Given the description of an element on the screen output the (x, y) to click on. 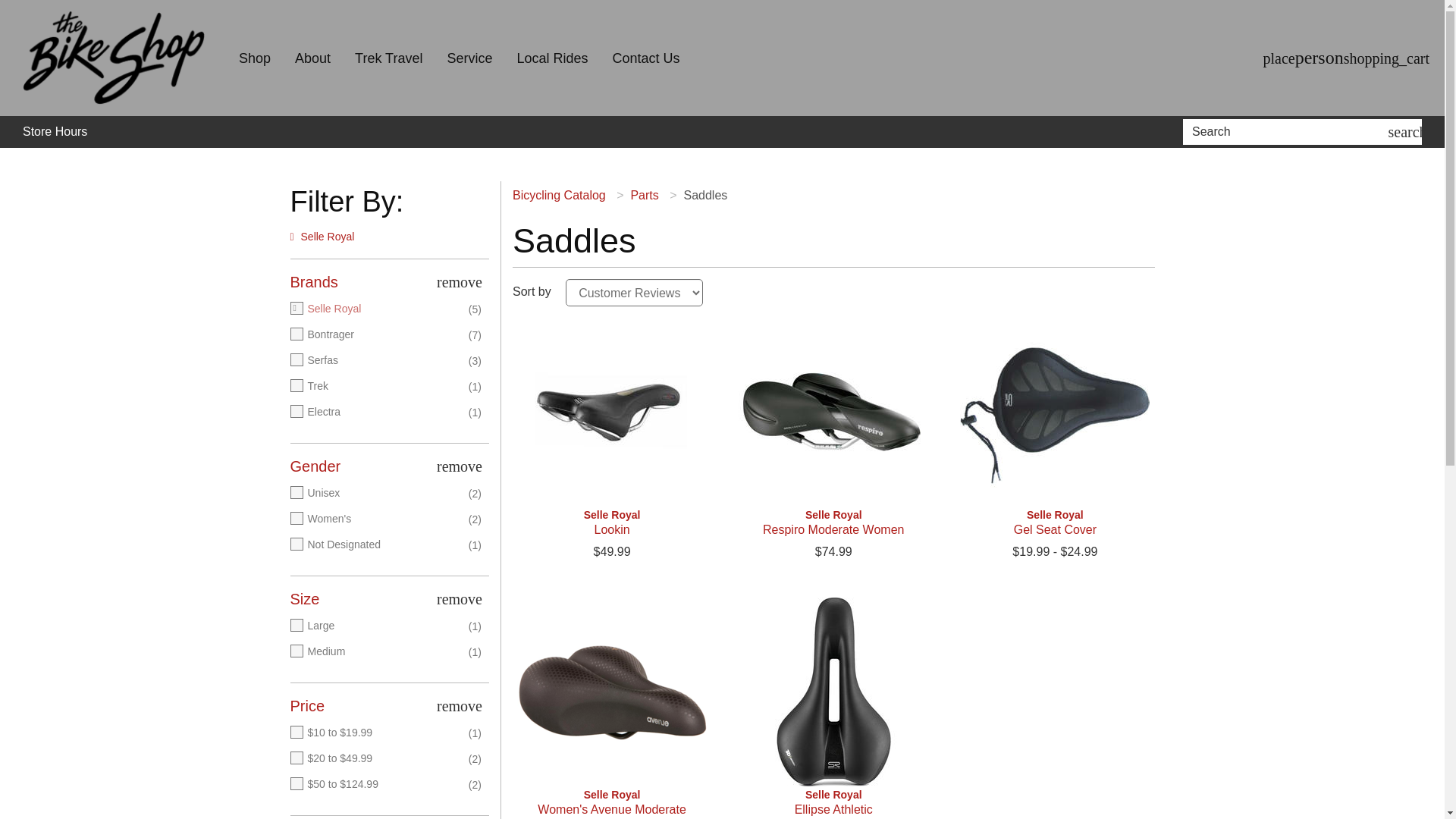
Selle Royal Lookin  (611, 411)
Shop (254, 58)
Stores (1279, 57)
Store Hours (55, 131)
Account (1319, 58)
The Bike Shop Home Page (114, 57)
Search (1287, 131)
